Given the description of an element on the screen output the (x, y) to click on. 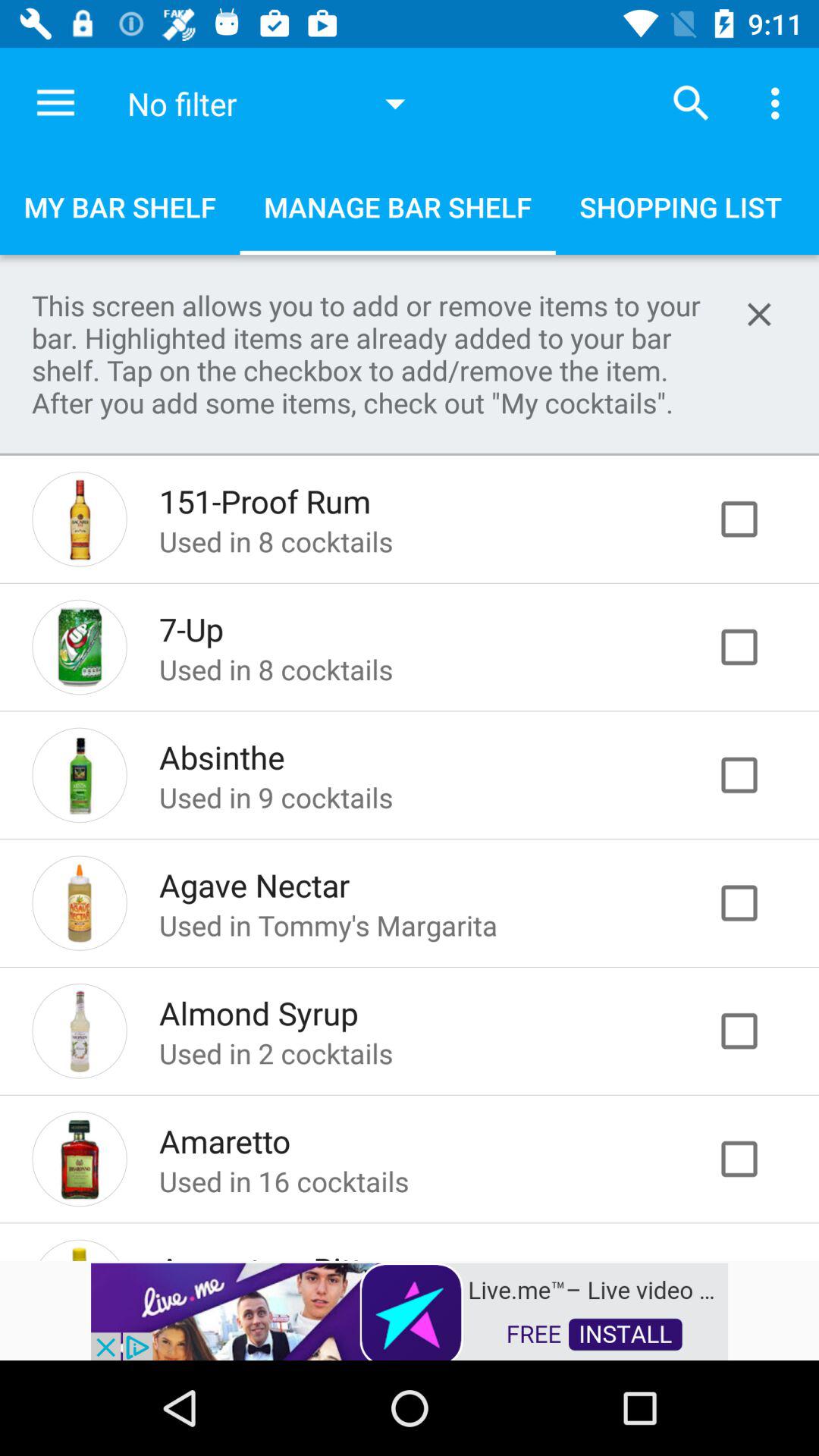
watch advertisement (409, 1310)
